Given the description of an element on the screen output the (x, y) to click on. 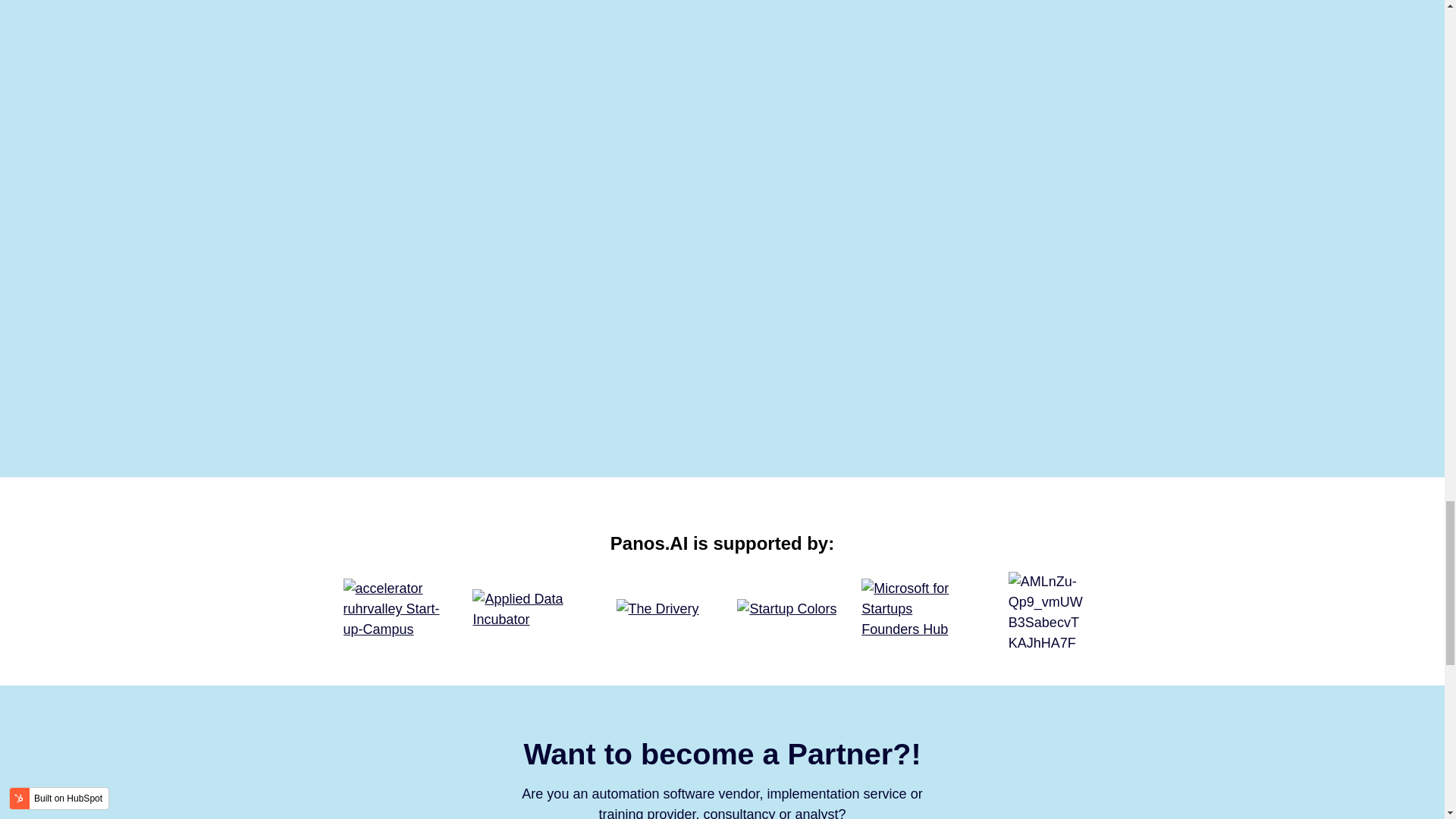
The Drivery (656, 608)
Startup Colors (785, 608)
accelerator ruhrvalley Start-up-Campus (397, 608)
Microsoft for Startups Founders Hub (916, 608)
Applied Data Incubator (526, 608)
